Given the description of an element on the screen output the (x, y) to click on. 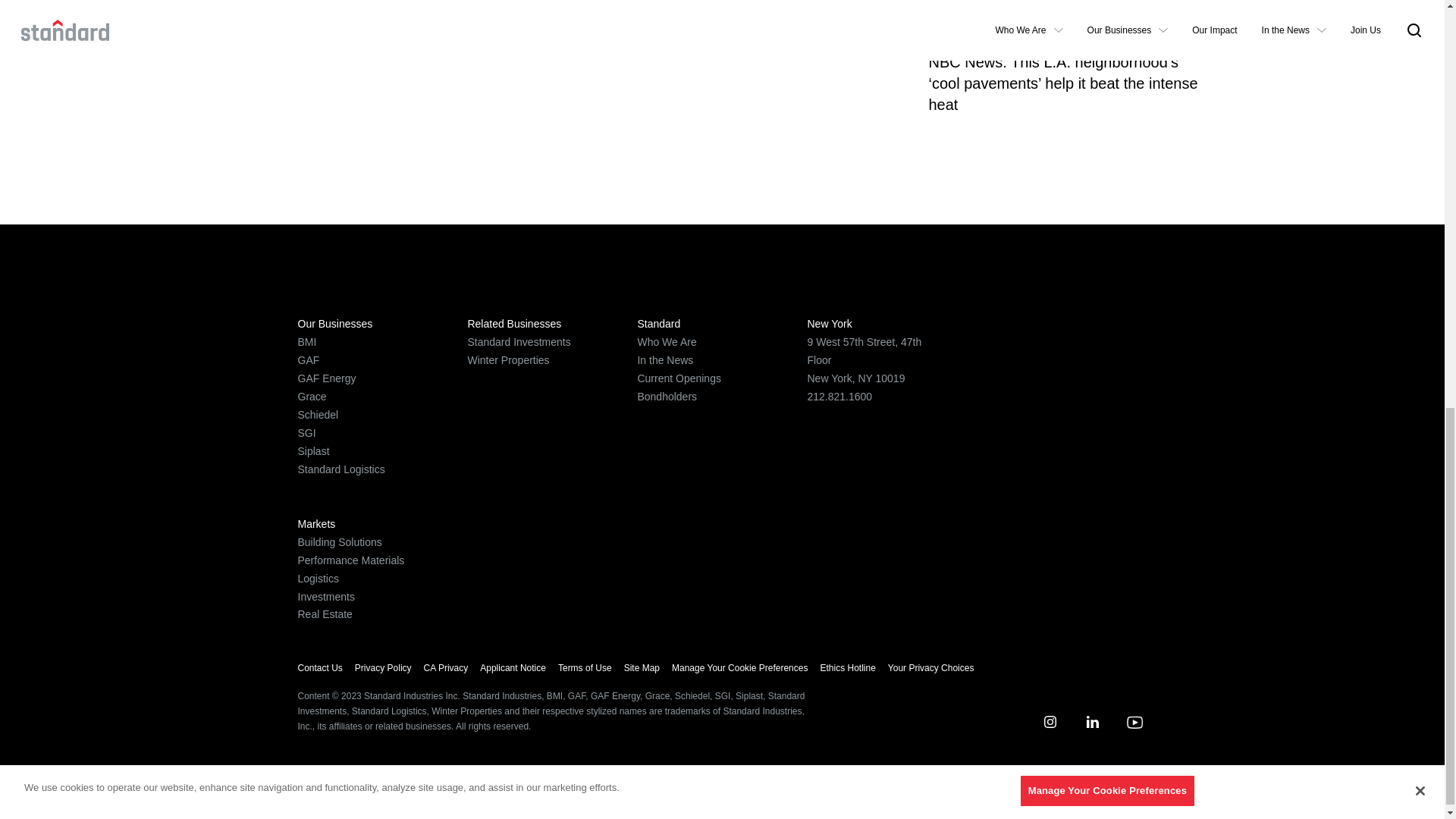
Winter Properties (507, 359)
Standard Logistics (340, 469)
GAF (307, 359)
SGI (306, 432)
Grace (311, 396)
Siplast (313, 451)
Standard Investments (518, 341)
BMI (306, 341)
GAF Energy (326, 378)
Schiedel (317, 414)
